Given the description of an element on the screen output the (x, y) to click on. 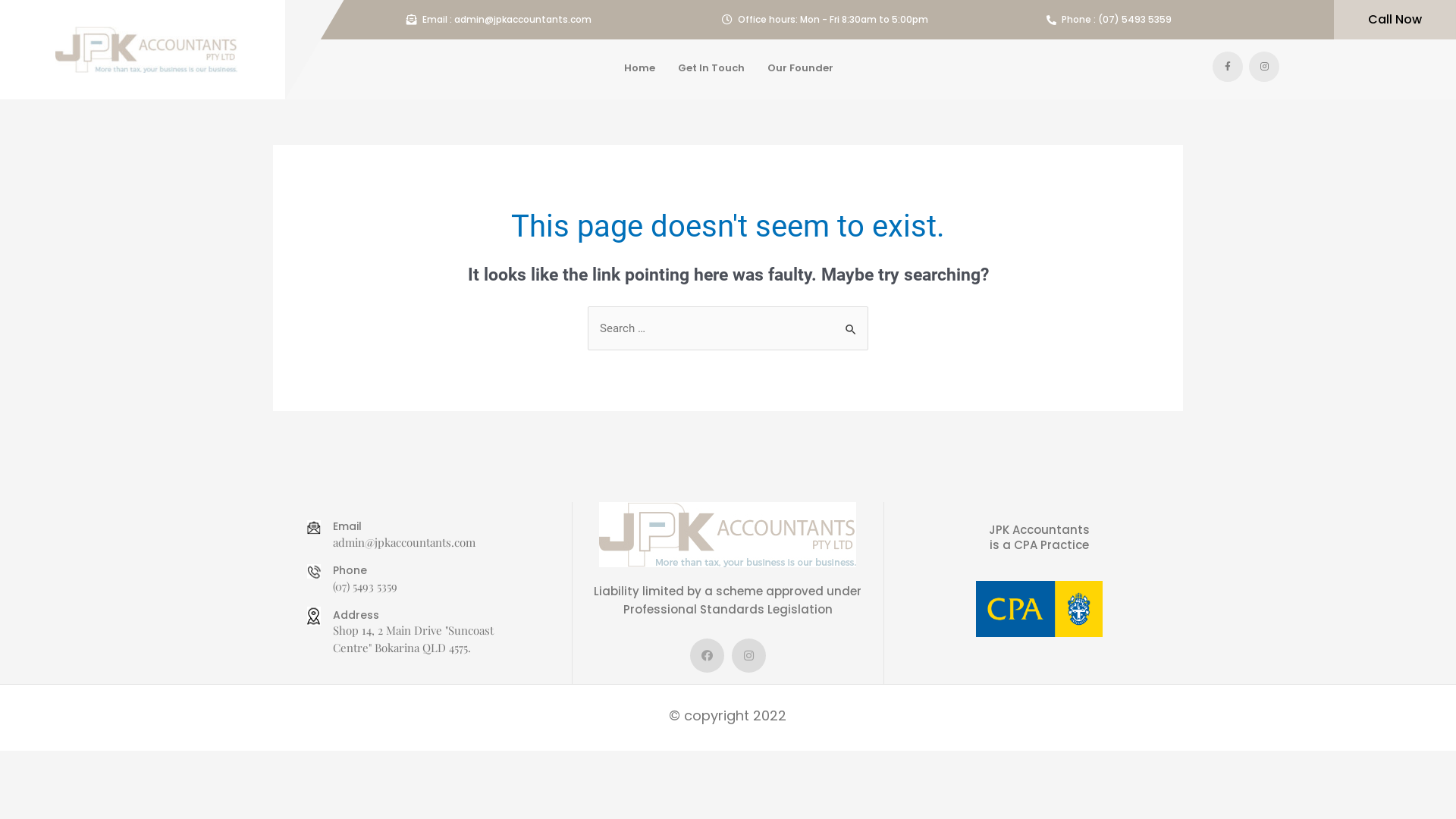
Home Element type: text (639, 67)
Get In Touch Element type: text (711, 67)
Our Founder Element type: text (800, 67)
Search Element type: text (851, 321)
